Given the description of an element on the screen output the (x, y) to click on. 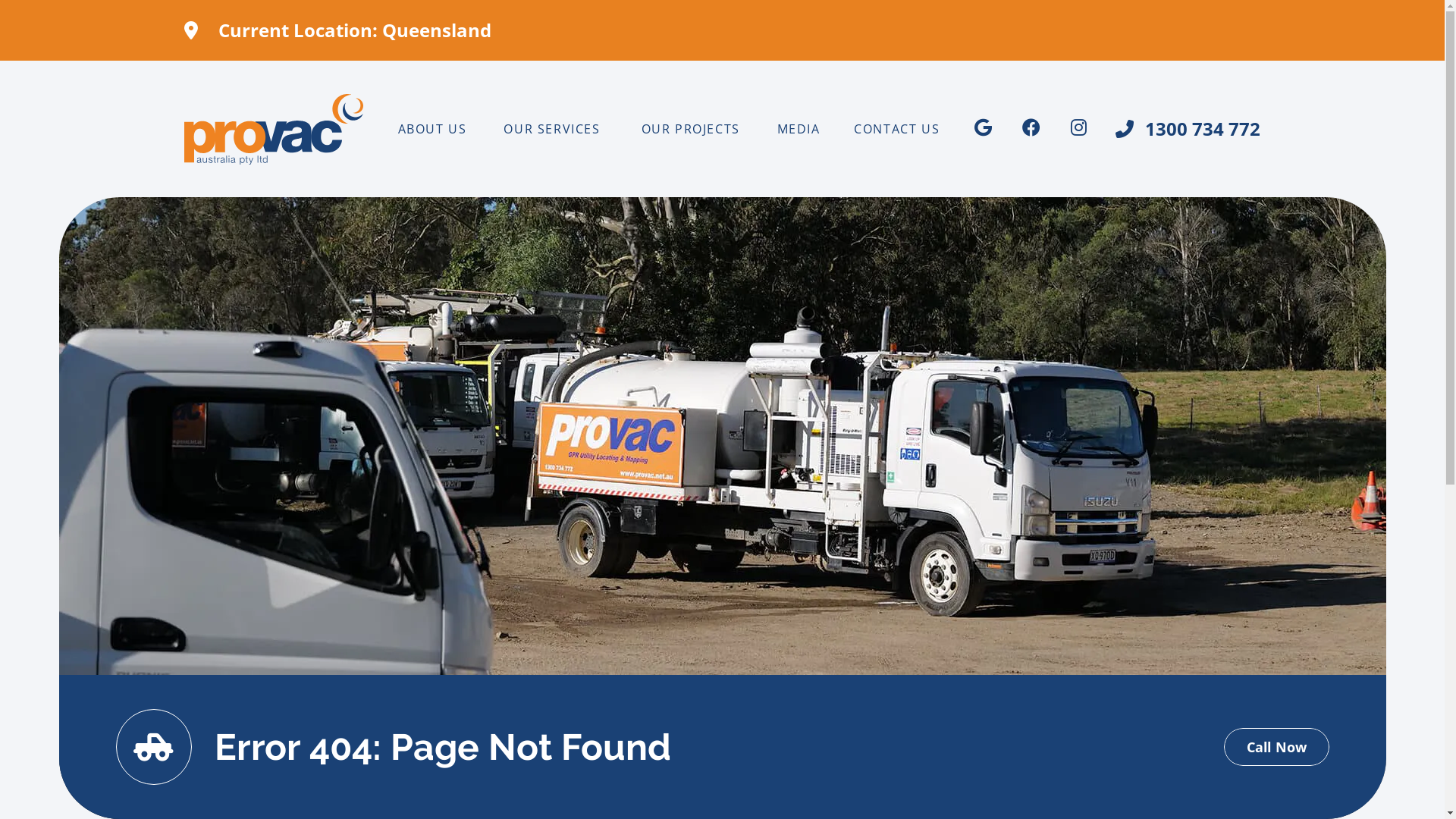
Call Now Element type: text (1276, 746)
1300 734 772 Element type: text (1187, 128)
